Given the description of an element on the screen output the (x, y) to click on. 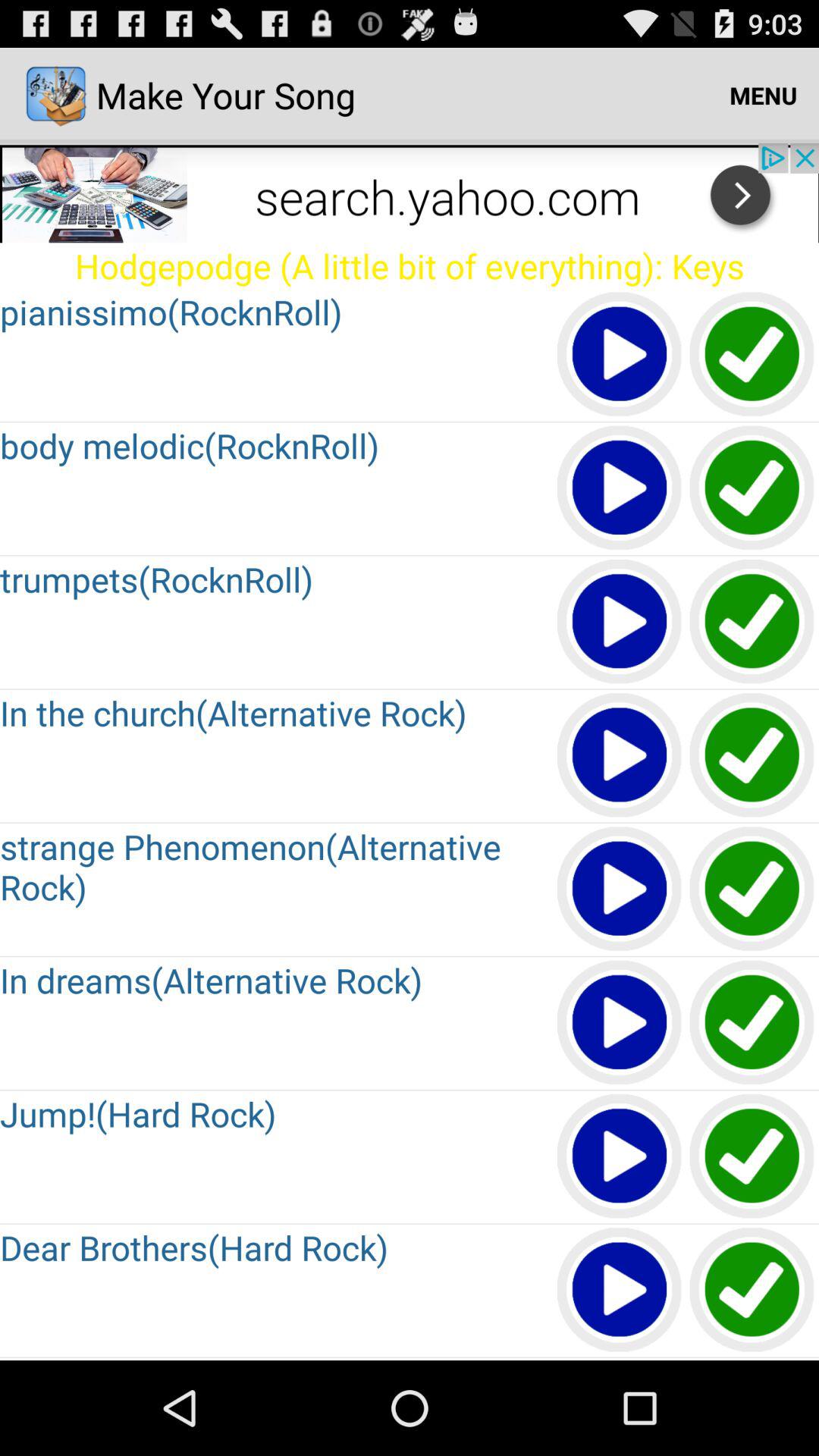
play music (619, 1156)
